Given the description of an element on the screen output the (x, y) to click on. 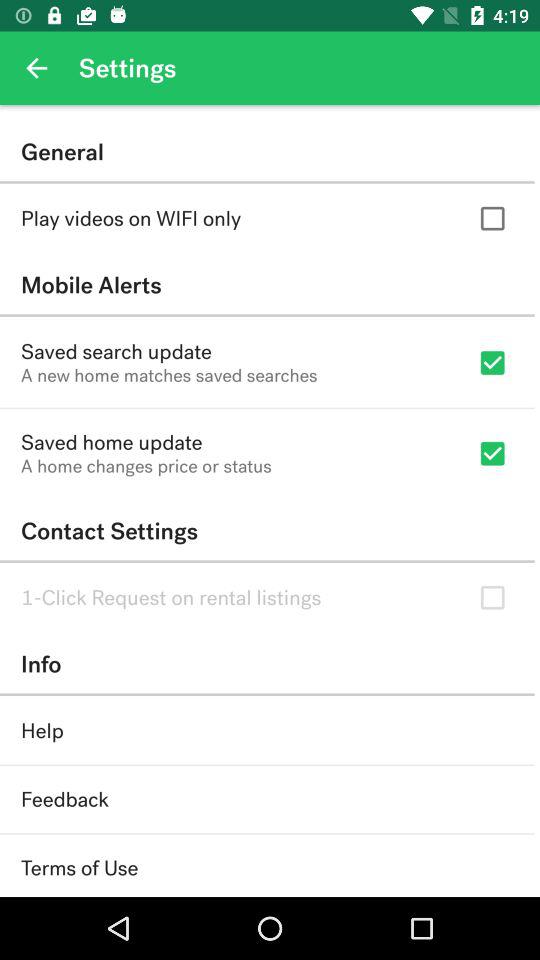
jump to the terms of use icon (79, 867)
